Given the description of an element on the screen output the (x, y) to click on. 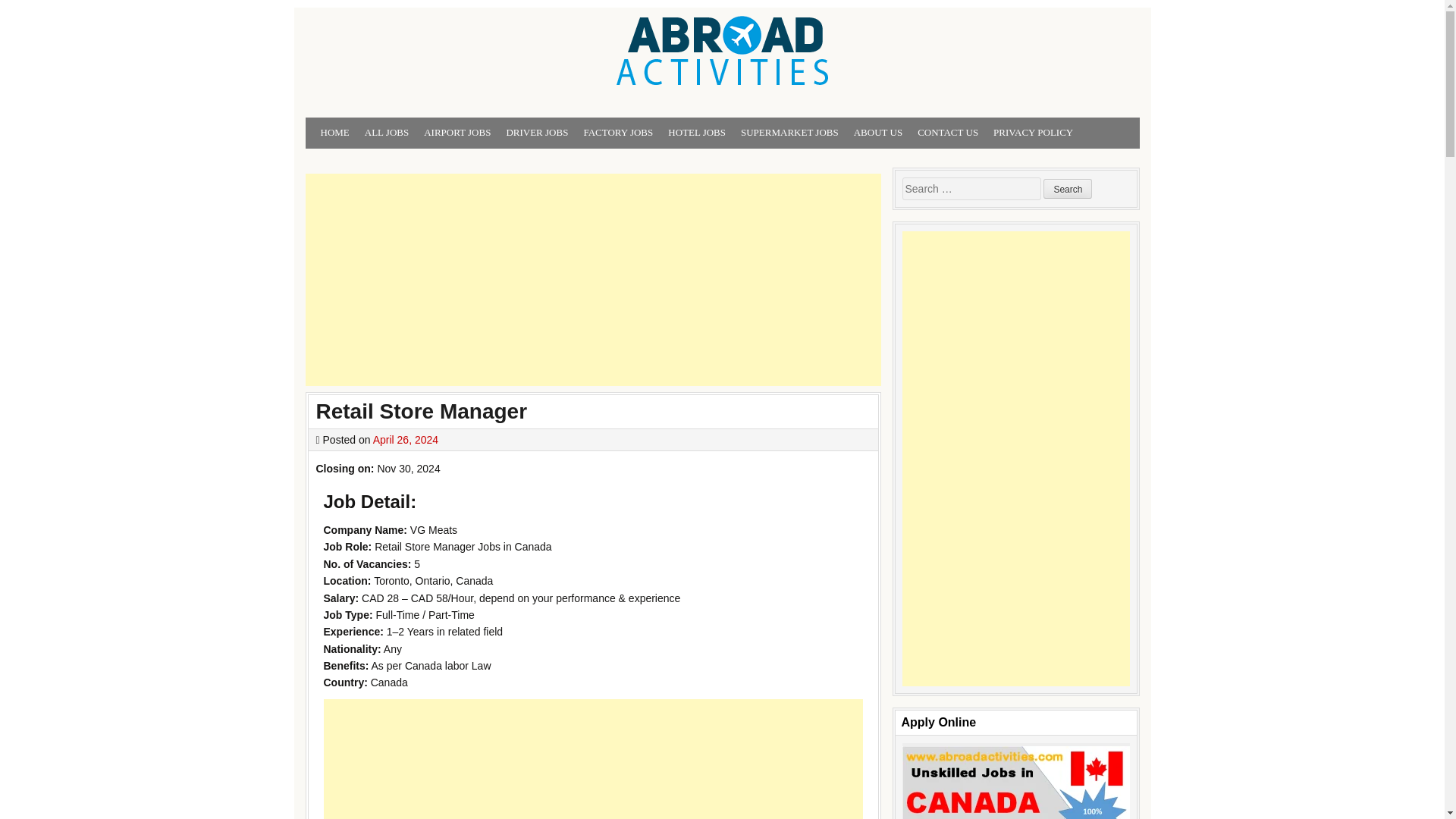
FACTORY JOBS (618, 132)
April 26, 2024 (405, 439)
SUPERMARKET JOBS (789, 132)
AIRPORT JOBS (456, 132)
Retail Store Manager (421, 411)
ALL JOBS (386, 132)
CONTACT US (947, 132)
DRIVER JOBS (536, 132)
Search (1067, 189)
Search (1067, 189)
ABOUT US (877, 132)
HOME (334, 132)
Abroadactivities.com (427, 114)
HOTEL JOBS (697, 132)
PRIVACY POLICY (1032, 132)
